Given the description of an element on the screen output the (x, y) to click on. 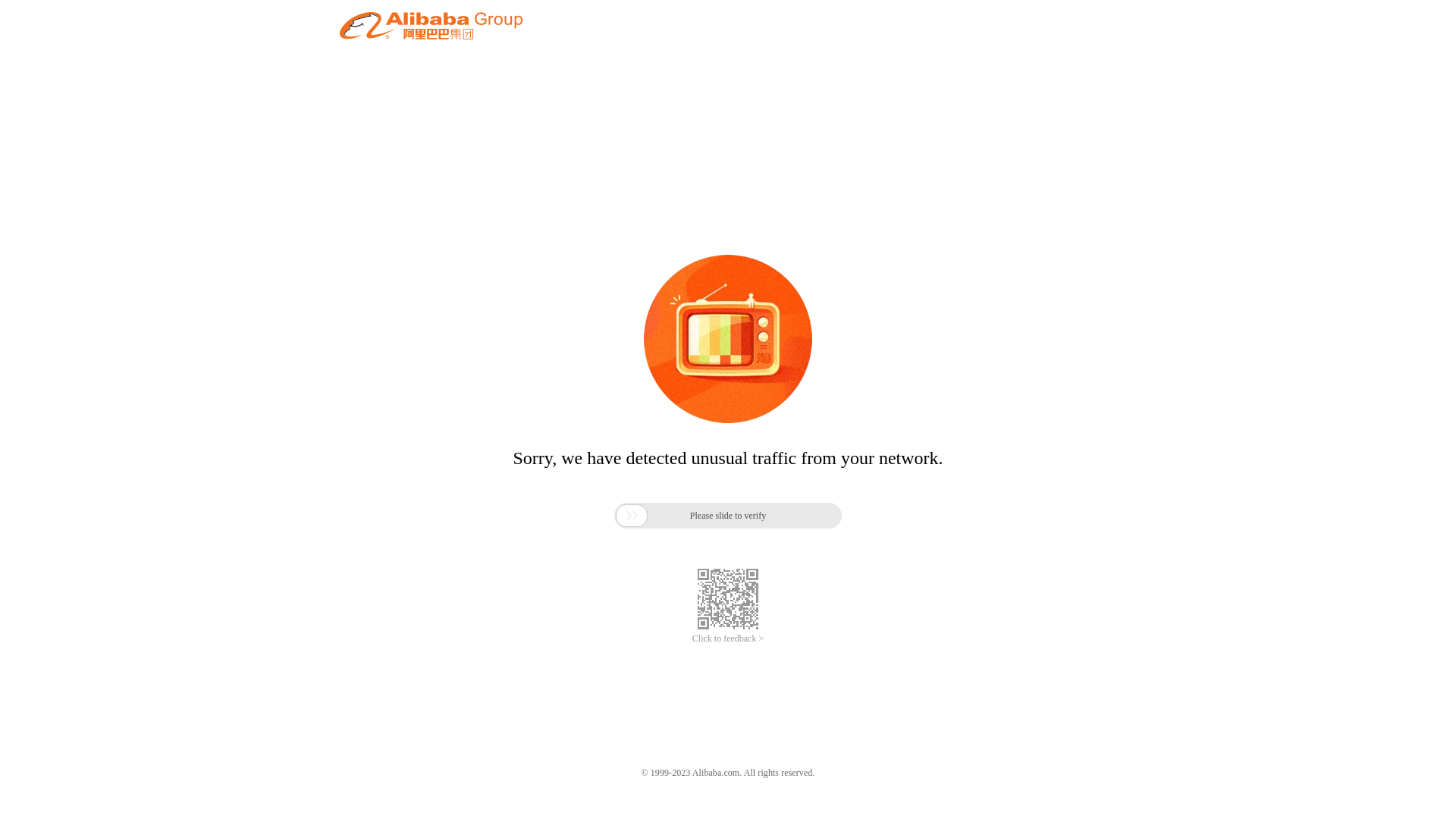
Click to feedback > Element type: text (727, 638)
